Given the description of an element on the screen output the (x, y) to click on. 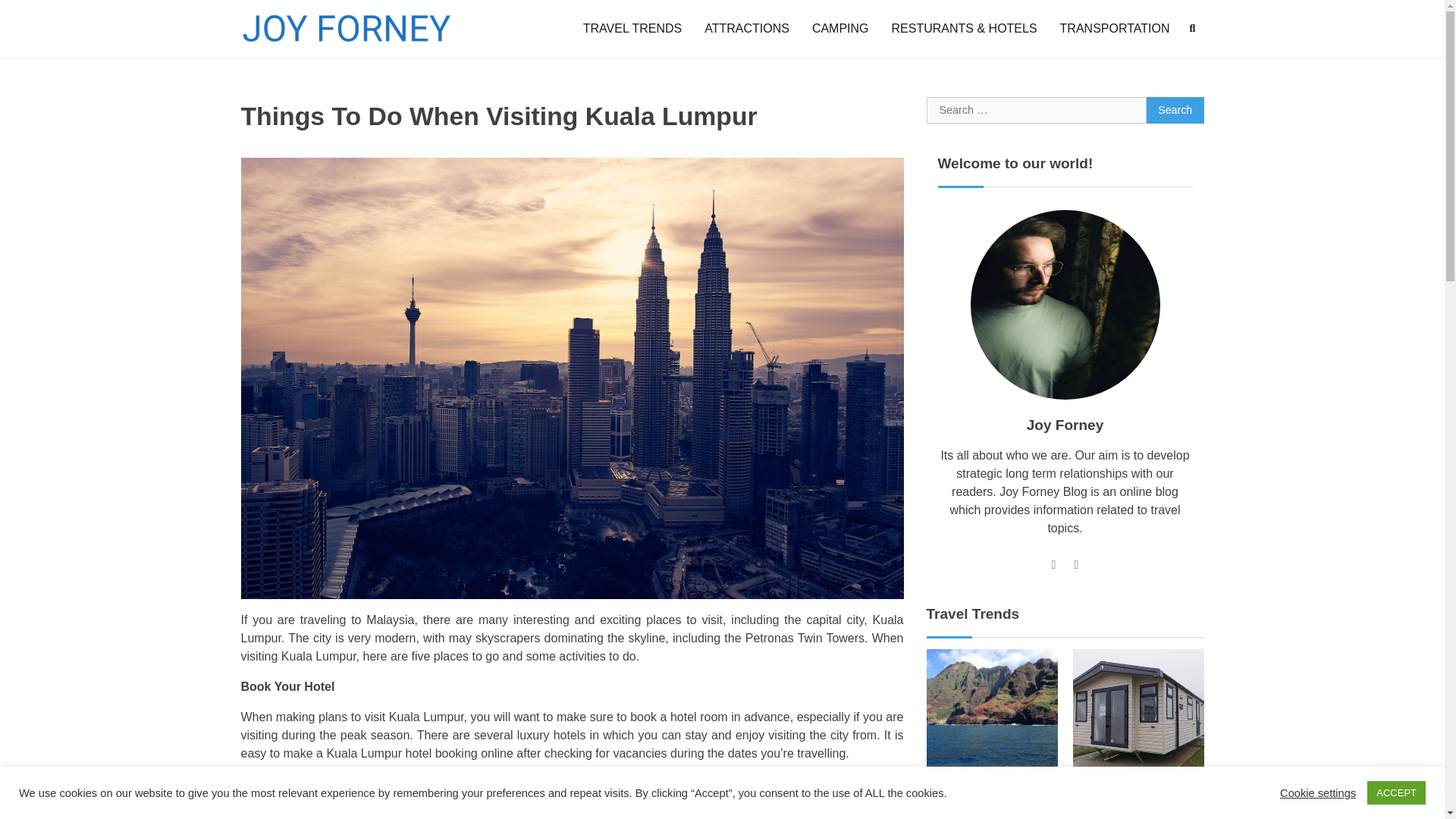
CAMPING (840, 27)
ATTRACTIONS (746, 27)
Search (1175, 110)
Search (1175, 110)
Search (1164, 63)
Na Pali Coast Kauai Guide (988, 794)
Search (1192, 28)
Excellent Tips And Tricks To Maintain Your Static Caravans (1131, 803)
Search (1175, 110)
TRANSPORTATION (1114, 27)
TRAVEL TRENDS (632, 27)
